Given the description of an element on the screen output the (x, y) to click on. 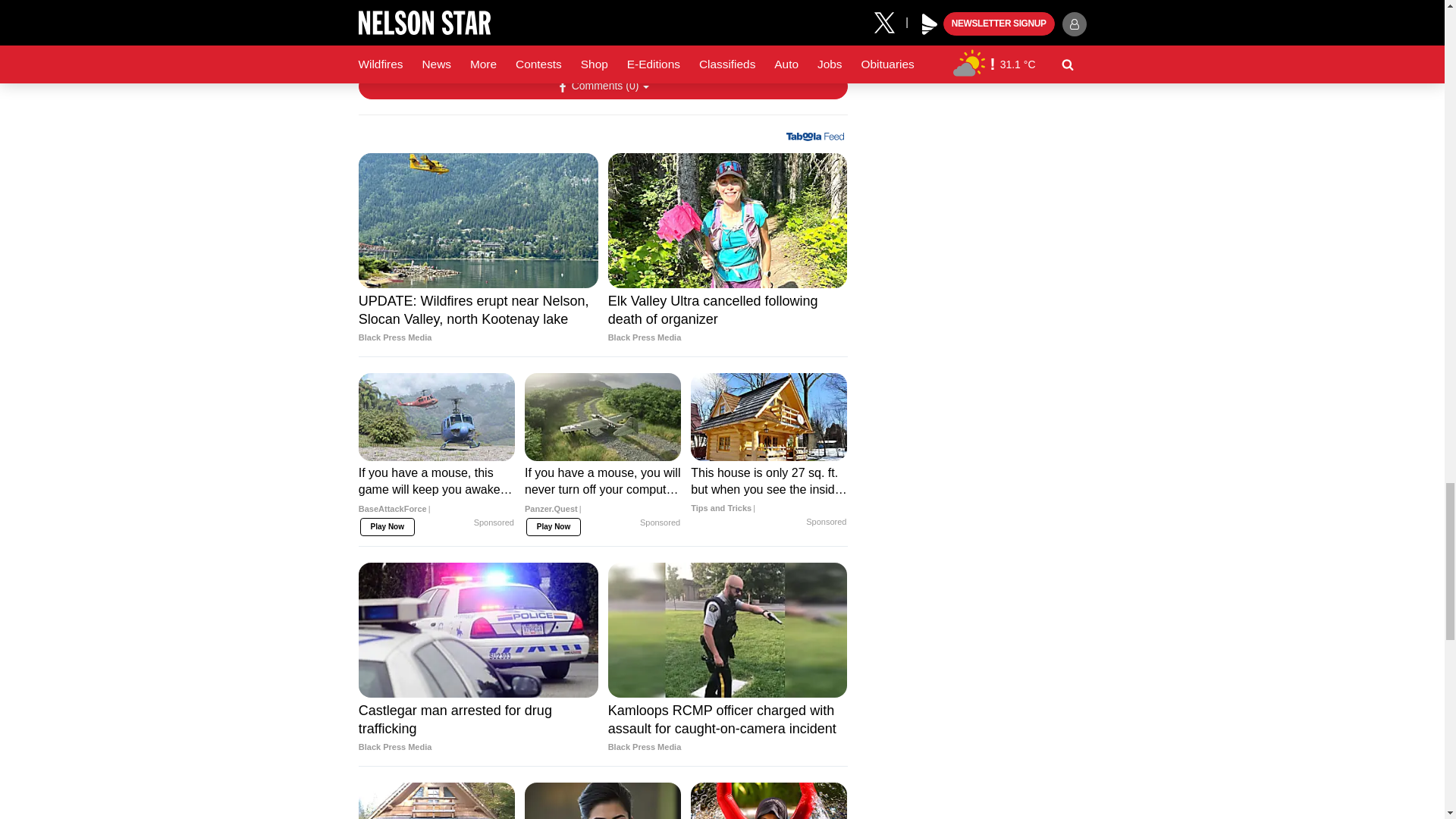
Show Comments (602, 86)
Elk Valley Ultra cancelled following death of organizer (727, 318)
Elk Valley Ultra cancelled following death of organizer (727, 220)
